Given the description of an element on the screen output the (x, y) to click on. 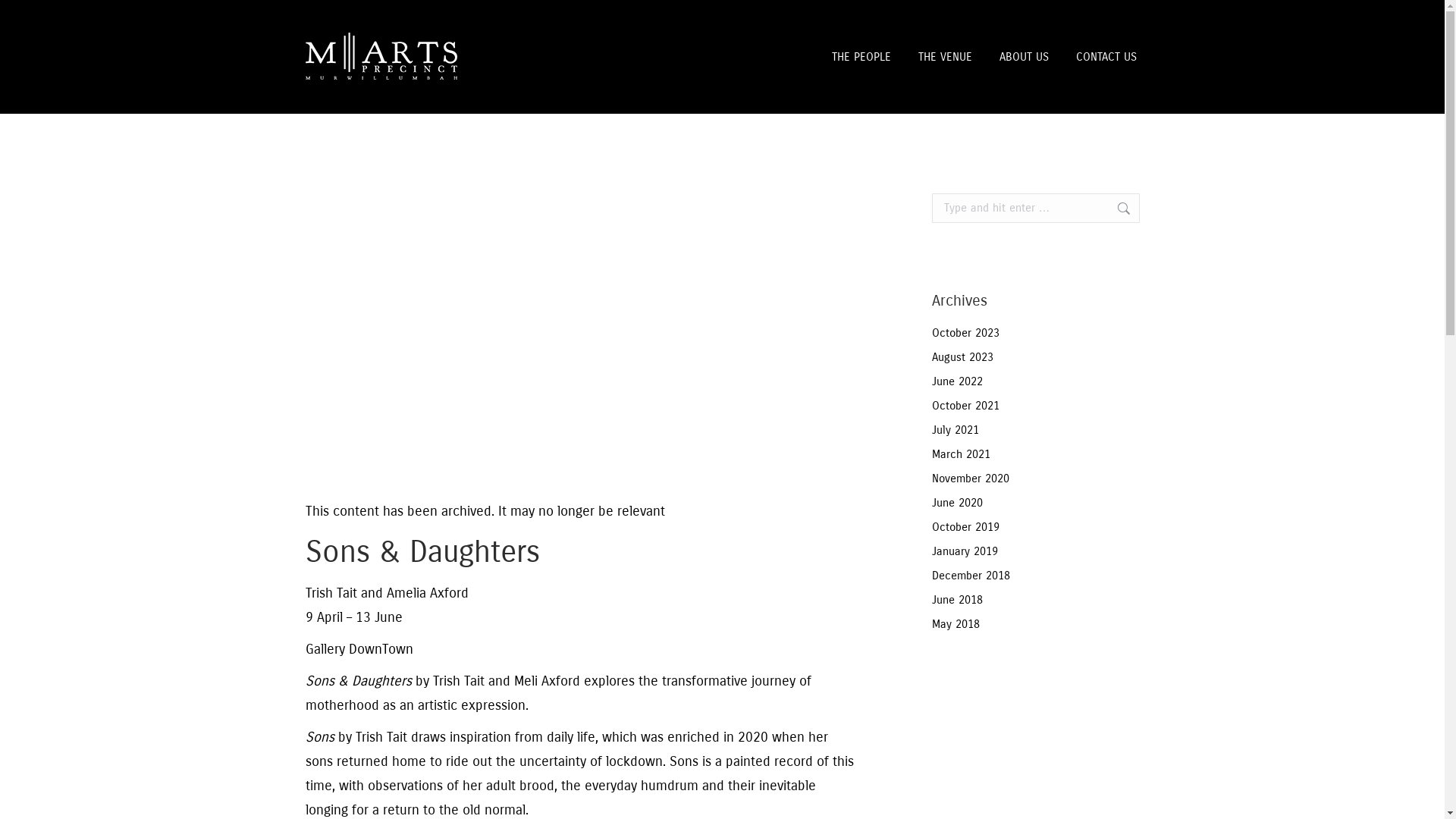
Go! Element type: text (1116, 207)
October 2023 Element type: text (964, 333)
THE PEOPLE Element type: text (860, 56)
CONTACT US Element type: text (1105, 56)
ABOUT US Element type: text (1023, 56)
THE VENUE Element type: text (944, 56)
December 2018 Element type: text (970, 575)
March 2021 Element type: text (960, 454)
June 2022 Element type: text (956, 381)
June 2020 Element type: text (956, 502)
May 2018 Element type: text (955, 624)
November 2020 Element type: text (969, 478)
July 2021 Element type: text (954, 430)
October 2019 Element type: text (964, 527)
August 2023 Element type: text (961, 357)
January 2019 Element type: text (964, 551)
October 2021 Element type: text (964, 405)
June 2018 Element type: text (956, 599)
